Given the description of an element on the screen output the (x, y) to click on. 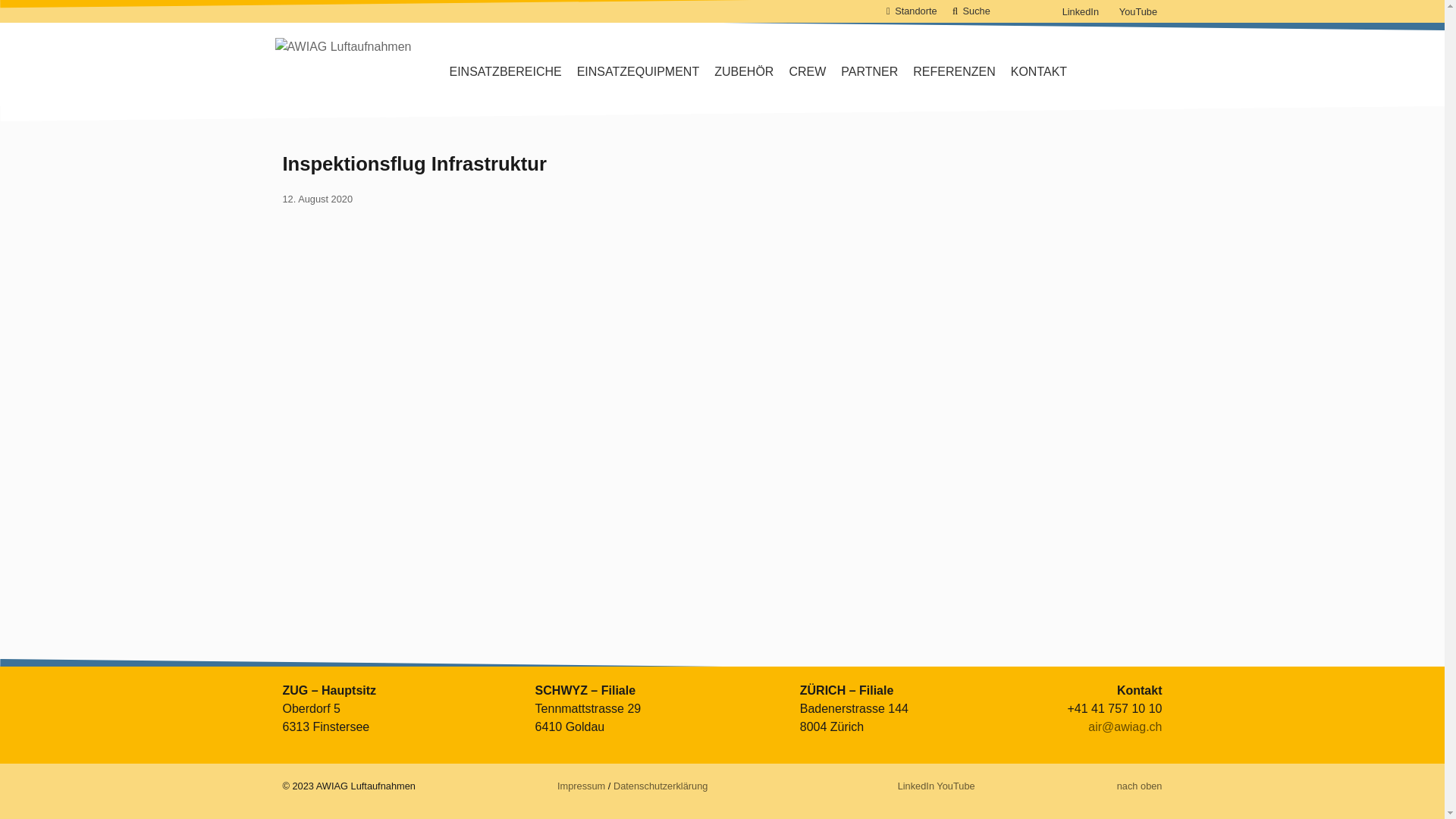
REFERENZEN Element type: text (953, 71)
EINSATZBEREICHE Element type: text (504, 71)
Standorte Element type: text (915, 10)
PARTNER Element type: text (869, 71)
CREW Element type: text (807, 71)
Impressum Element type: text (581, 785)
LinkedIn Element type: text (915, 785)
LinkedIn Element type: text (1080, 11)
nach oben Element type: text (1139, 785)
YouTube Element type: text (955, 785)
Facebook Element type: text (859, 785)
Instagram Element type: text (883, 785)
Facebook Element type: text (1012, 10)
KONTAKT Element type: text (1038, 71)
EINSATZEQUIPMENT Element type: text (638, 71)
air@awiag.ch Element type: text (1124, 726)
YouTube Element type: text (1137, 11)
Suche Element type: text (975, 10)
Instagram Element type: text (1038, 10)
